Given the description of an element on the screen output the (x, y) to click on. 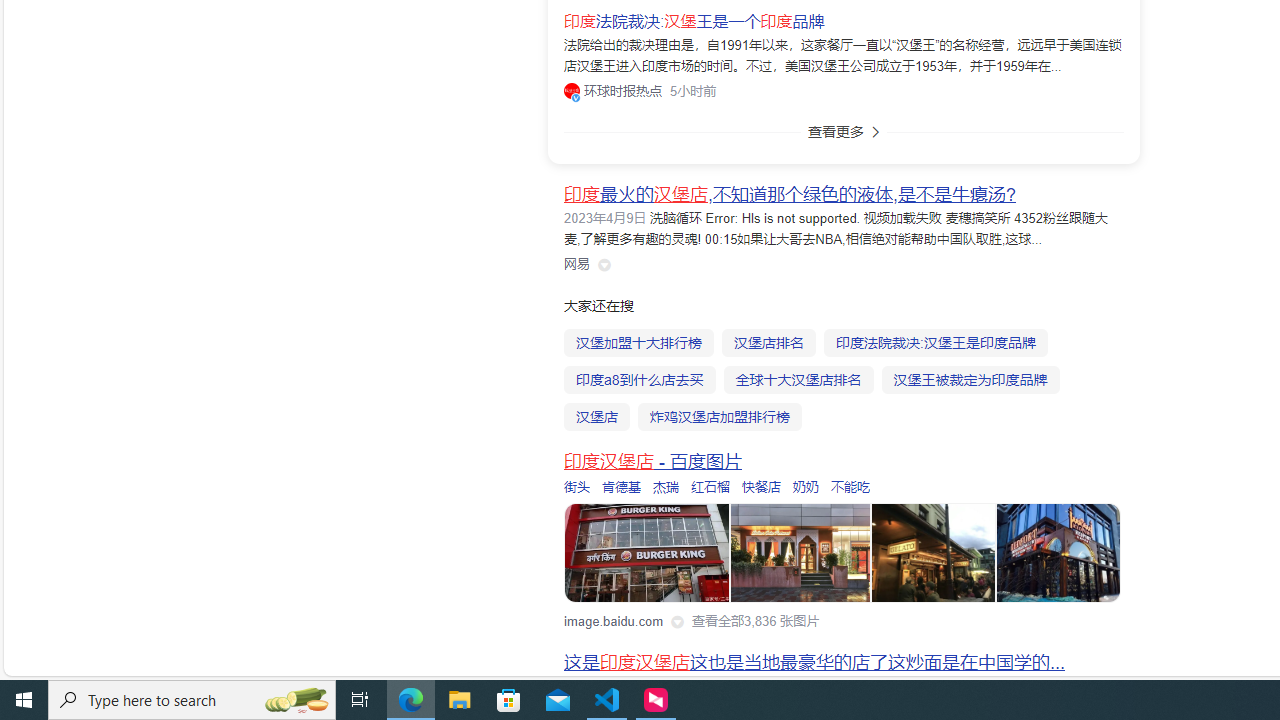
Class: siteLink_9TPP3 (577, 264)
To get missing image descriptions, open the context menu. (648, 553)
